Given the description of an element on the screen output the (x, y) to click on. 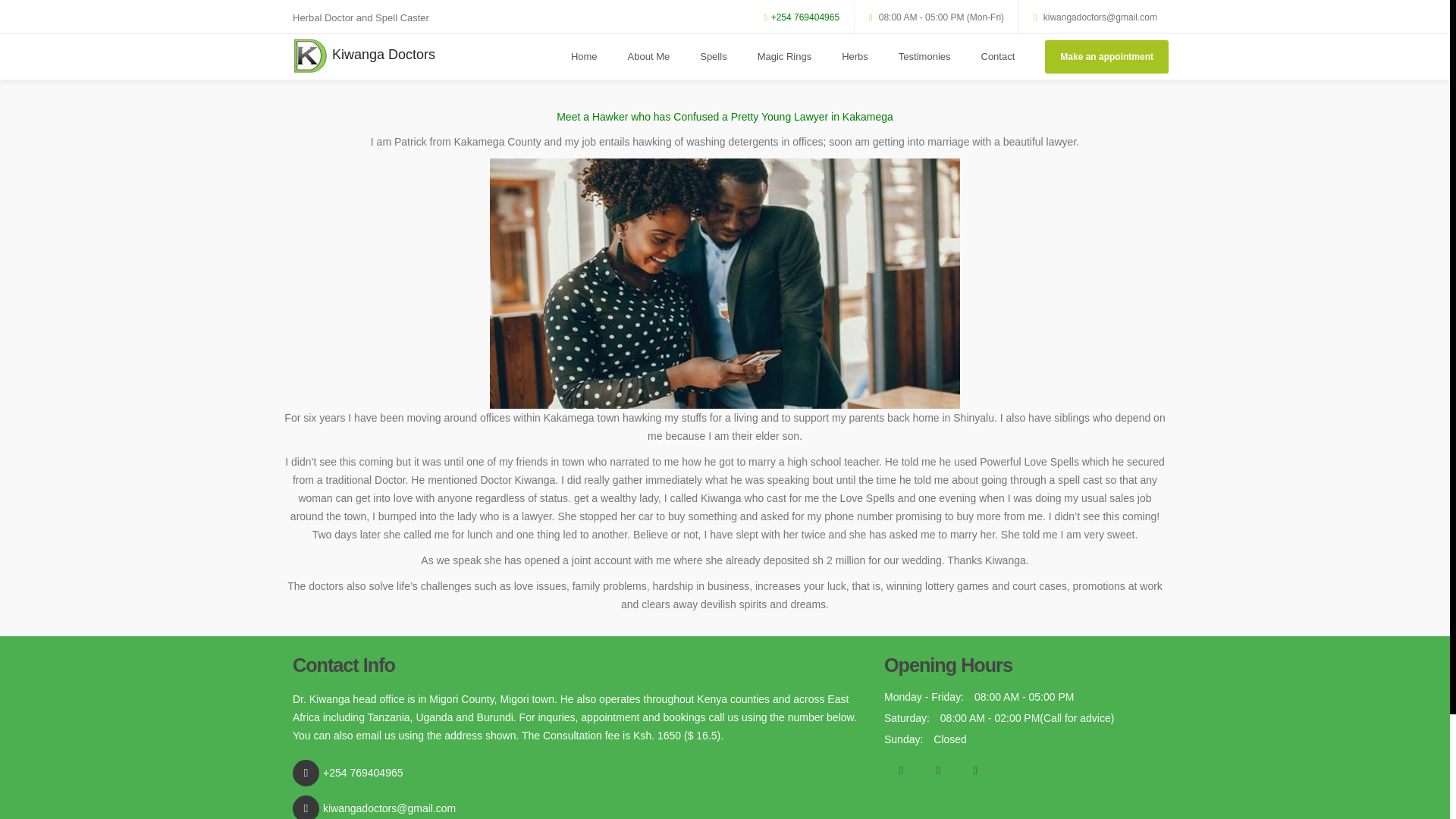
Kiwanga Doctors (363, 55)
Magic Rings (784, 56)
Home (584, 56)
Contact (998, 56)
Kiwanga Doctors (363, 55)
Herbs (855, 56)
Spells (712, 56)
Make an appointment (1107, 56)
Testimonies (924, 56)
About Me (648, 56)
